Given the description of an element on the screen output the (x, y) to click on. 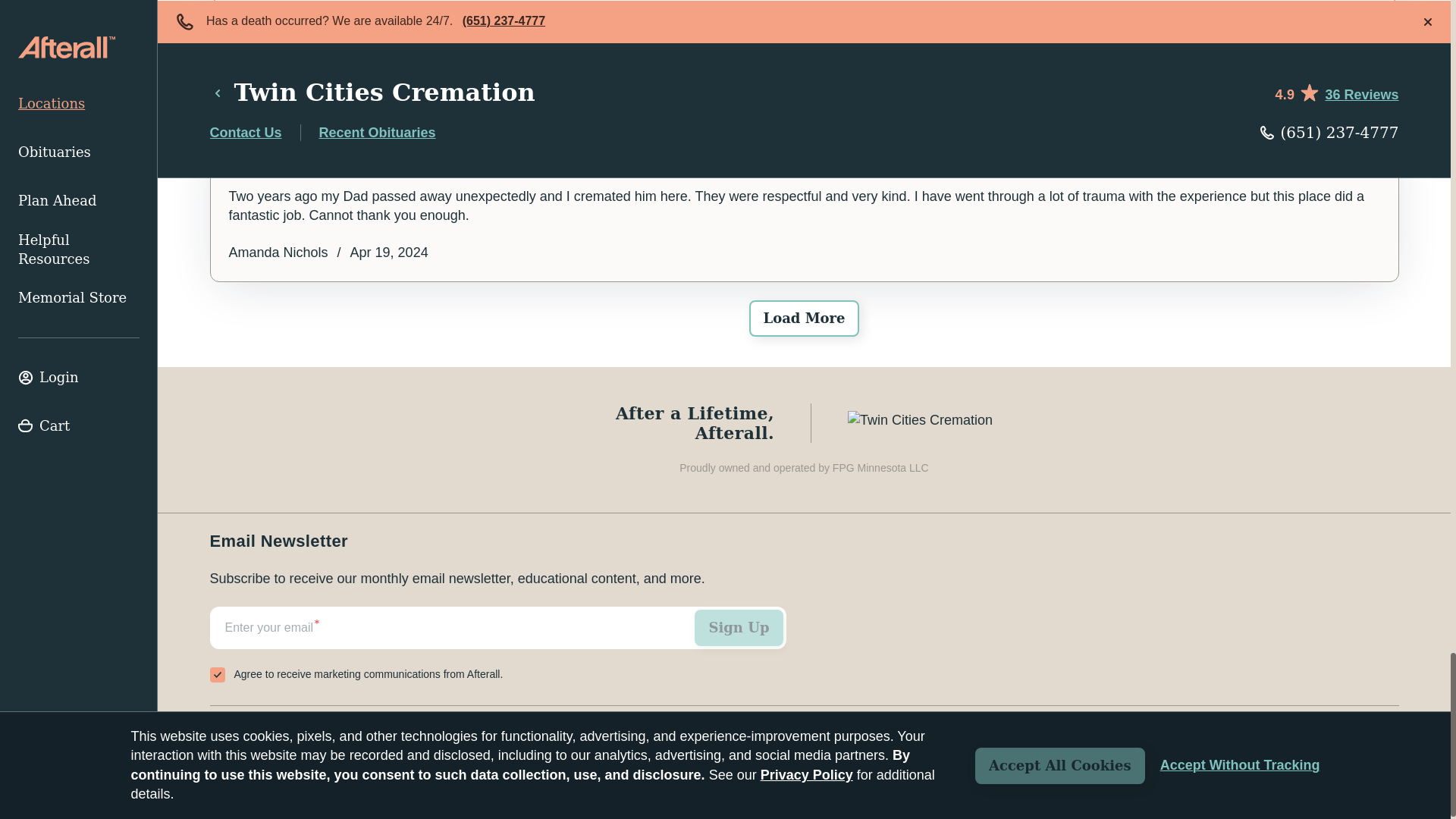
5 out of 5 Customer Rating (804, 48)
5 out of 5 Customer Rating (804, 159)
